Given the description of an element on the screen output the (x, y) to click on. 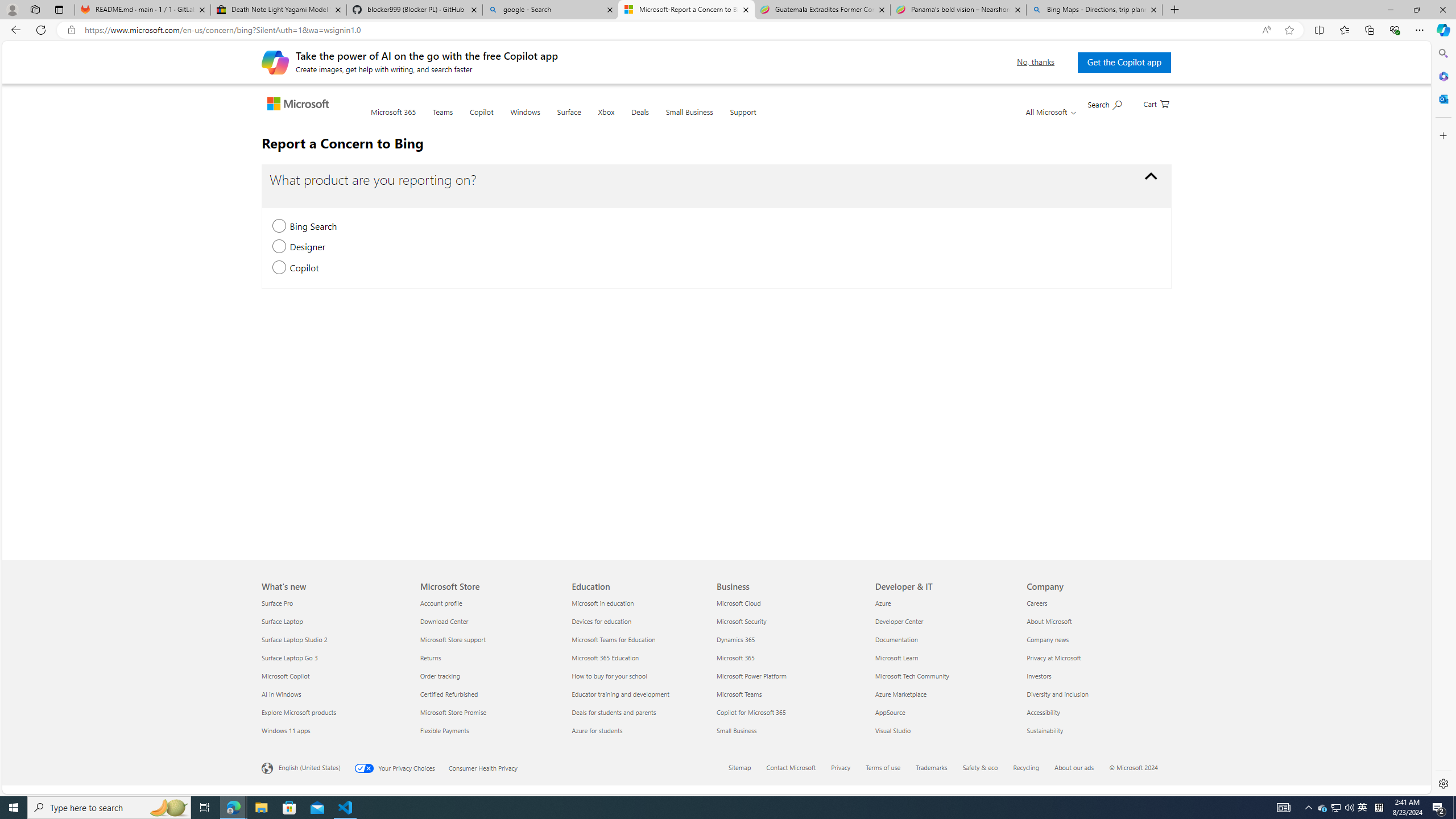
Microsoft 365 Education (641, 657)
Deals for students and parents (641, 711)
Surface Laptop Go 3 (334, 657)
Sustainability Company (1044, 729)
Copilot (481, 118)
Devices for education (641, 620)
Documentation Developer & IT (896, 638)
Accessibility (1095, 711)
Sitemap (746, 768)
Contact Microsoft (797, 768)
Teams (442, 118)
